Given the description of an element on the screen output the (x, y) to click on. 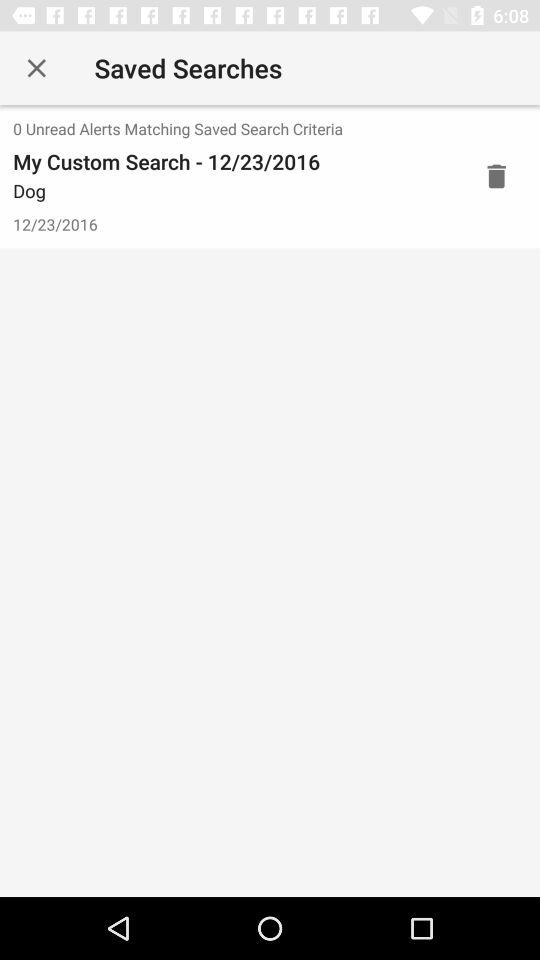
a trashcan for deleting searches (496, 176)
